Given the description of an element on the screen output the (x, y) to click on. 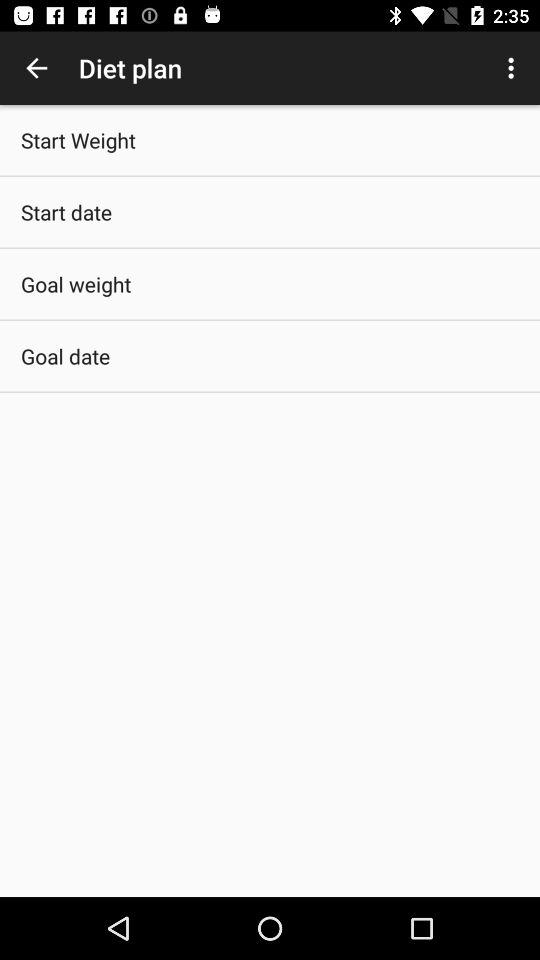
tap item at the top right corner (513, 67)
